Given the description of an element on the screen output the (x, y) to click on. 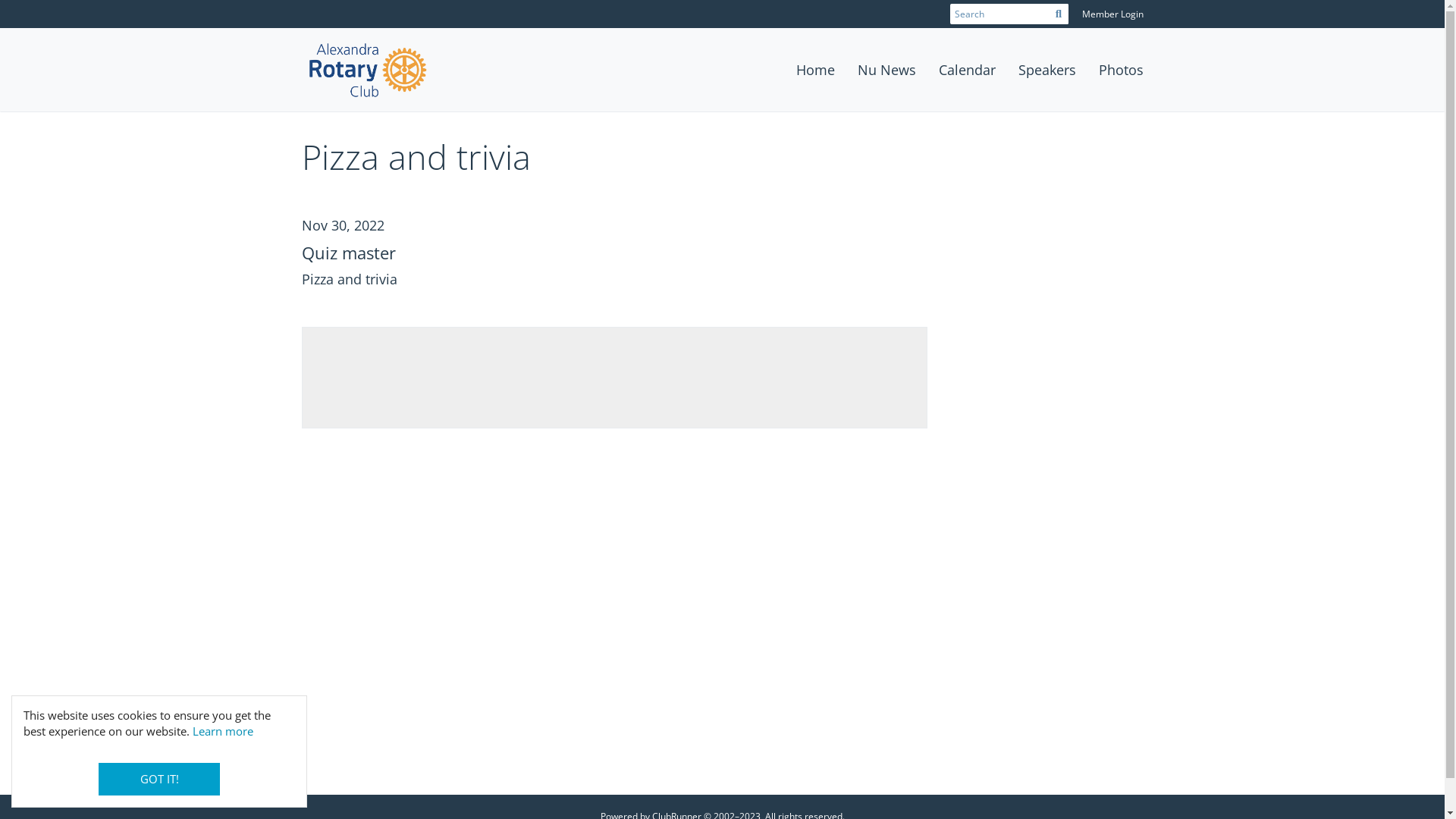
Nu News Element type: text (886, 69)
GOT IT! Element type: text (158, 778)
Speakers Element type: text (1047, 69)
Photos Element type: text (1120, 69)
Home Element type: text (814, 69)
Member Login Element type: text (1111, 13)
Learn more Element type: text (222, 730)
Calendar Element type: text (966, 69)
